Given the description of an element on the screen output the (x, y) to click on. 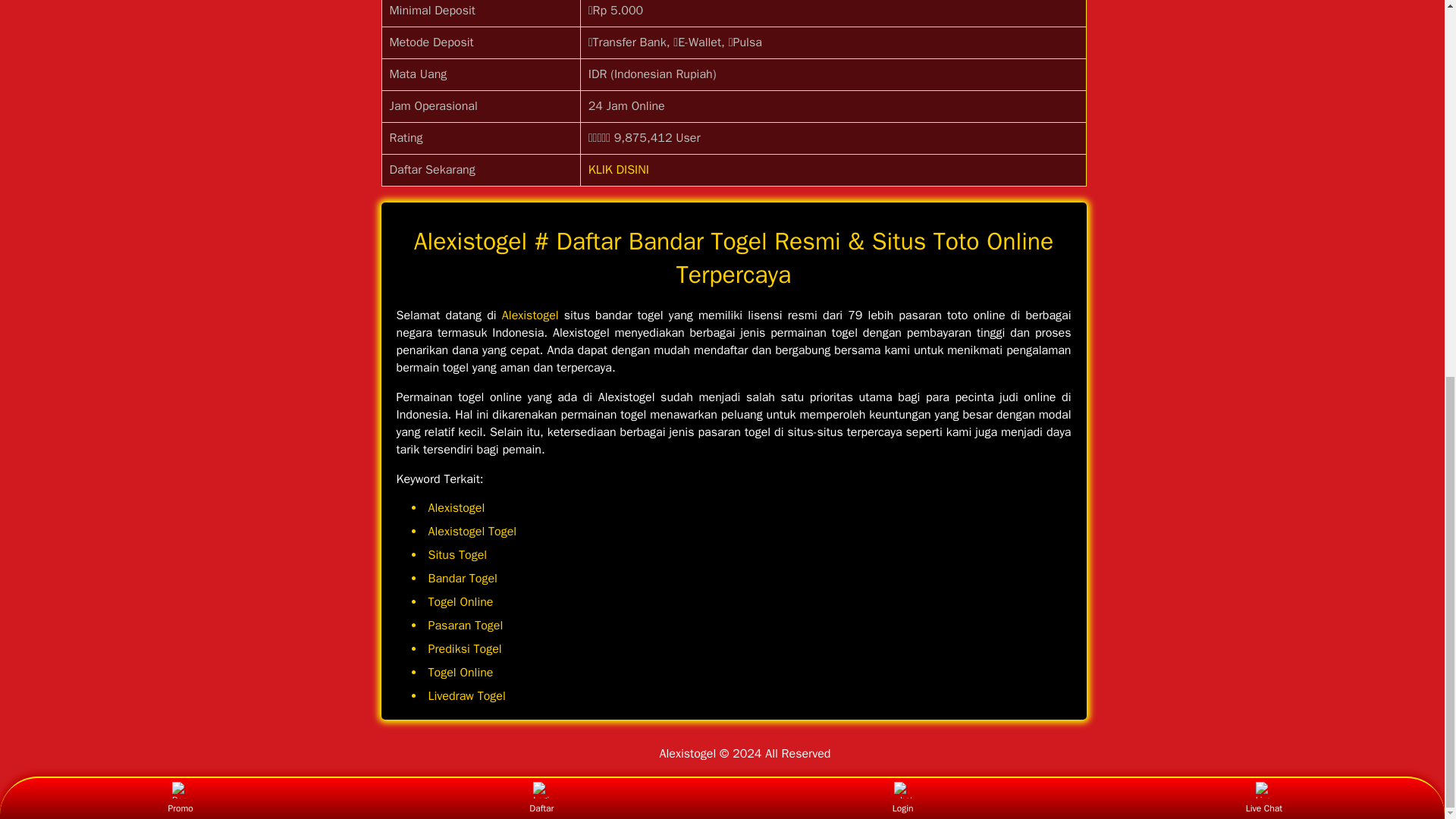
Alexistogel (530, 314)
Live Chat (1263, 103)
KLIK DISINI (618, 169)
Promo (180, 103)
Login (903, 103)
Daftar (541, 103)
